Given the description of an element on the screen output the (x, y) to click on. 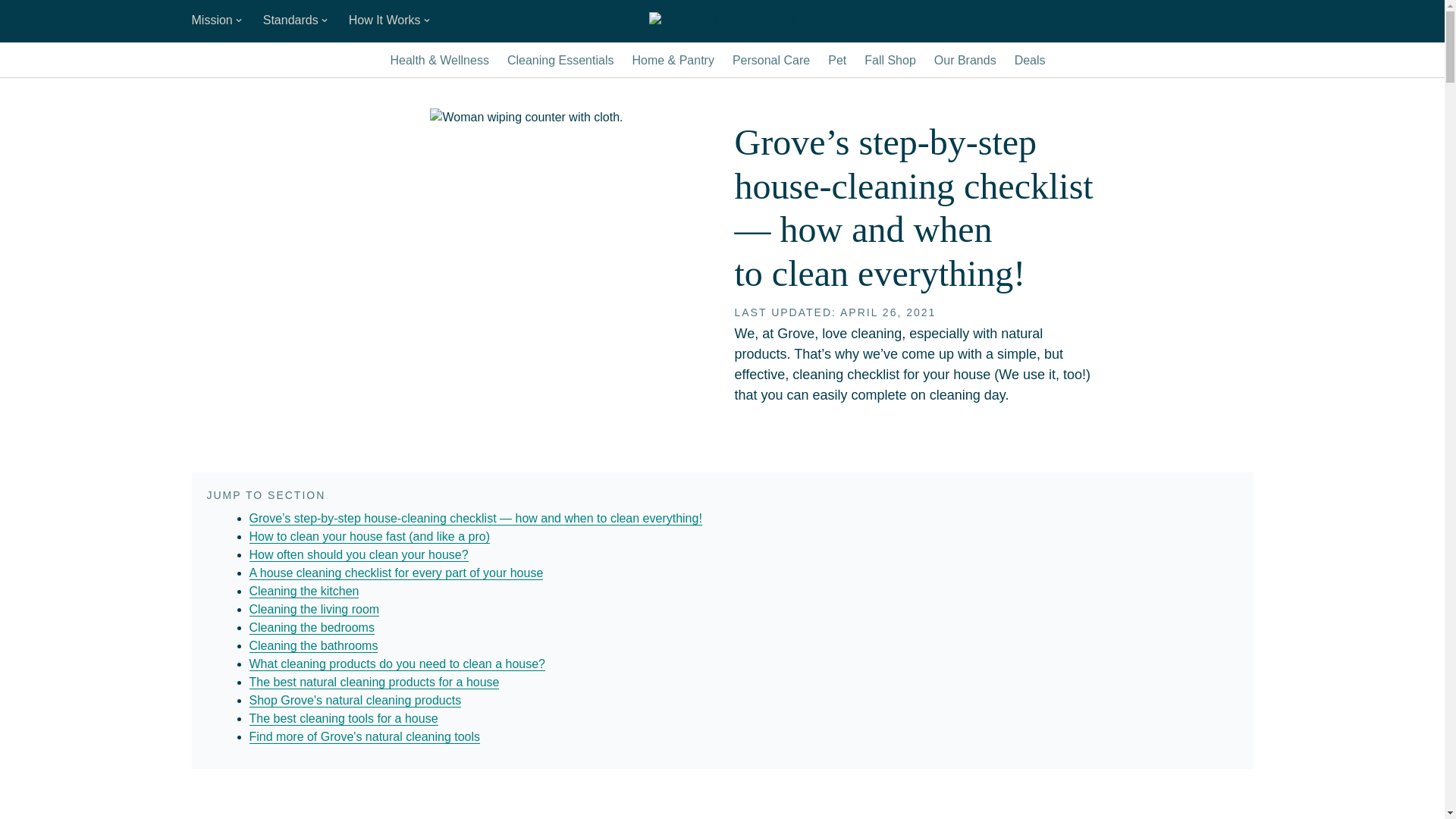
Cleaning the bedrooms (311, 627)
Our Brands (964, 60)
Shop Grove's natural cleaning products (354, 700)
How often should you clean your house? (357, 554)
Cleaning the kitchen (303, 591)
Cleaning the bathrooms (312, 645)
Fall Shop (889, 60)
How It Works (390, 20)
What cleaning products do you need to clean a house? (396, 663)
Standards (296, 20)
